Given the description of an element on the screen output the (x, y) to click on. 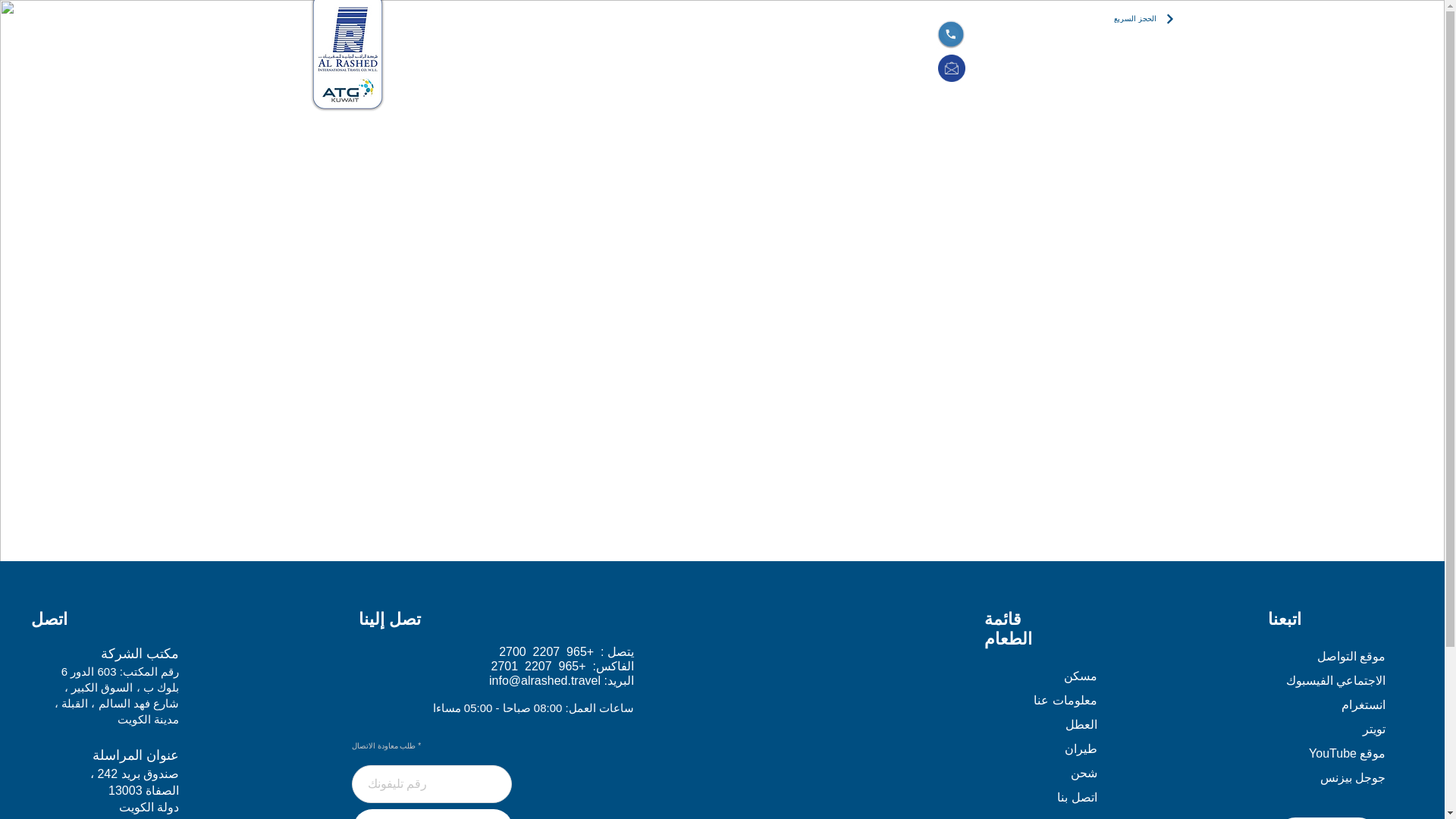
www.alrashed.travel (428, 241)
